Given the description of an element on the screen output the (x, y) to click on. 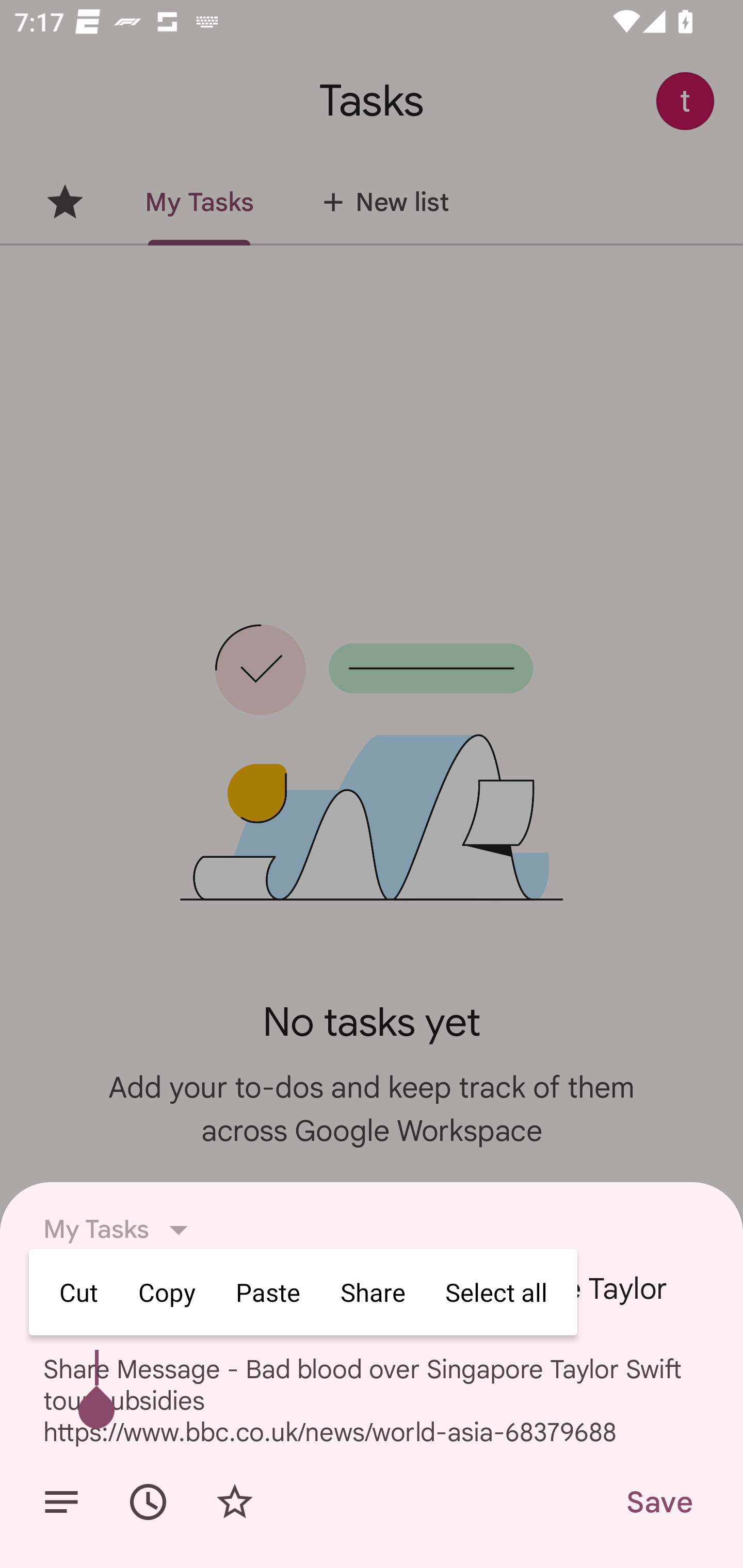
My Tasks List, My Tasks selected, 1 of 1 (121, 1229)
Save (659, 1501)
Add details (60, 1501)
Set date/time (147, 1501)
Add star (234, 1501)
